Given the description of an element on the screen output the (x, y) to click on. 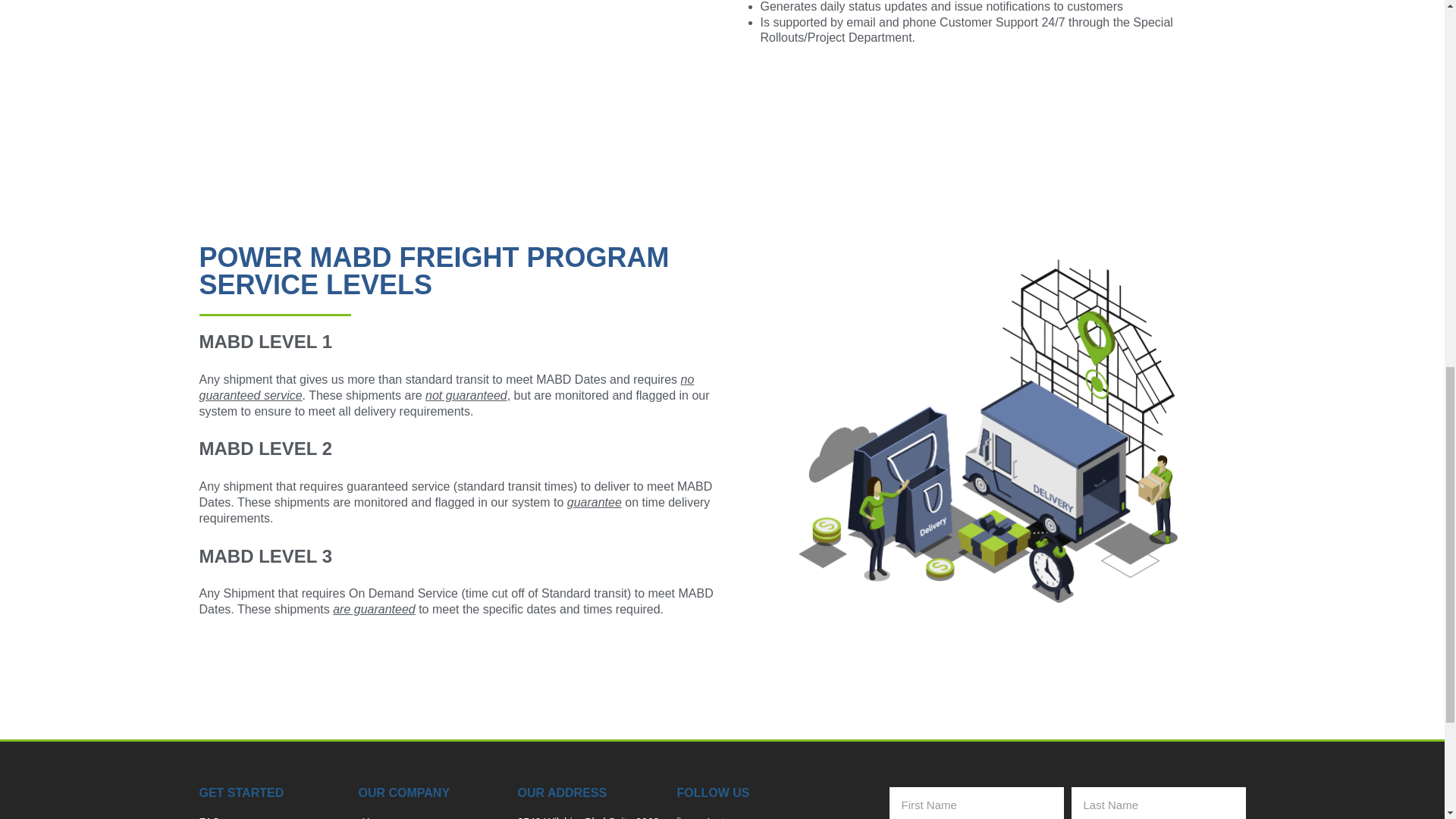
FAQs (270, 816)
